Given the description of an element on the screen output the (x, y) to click on. 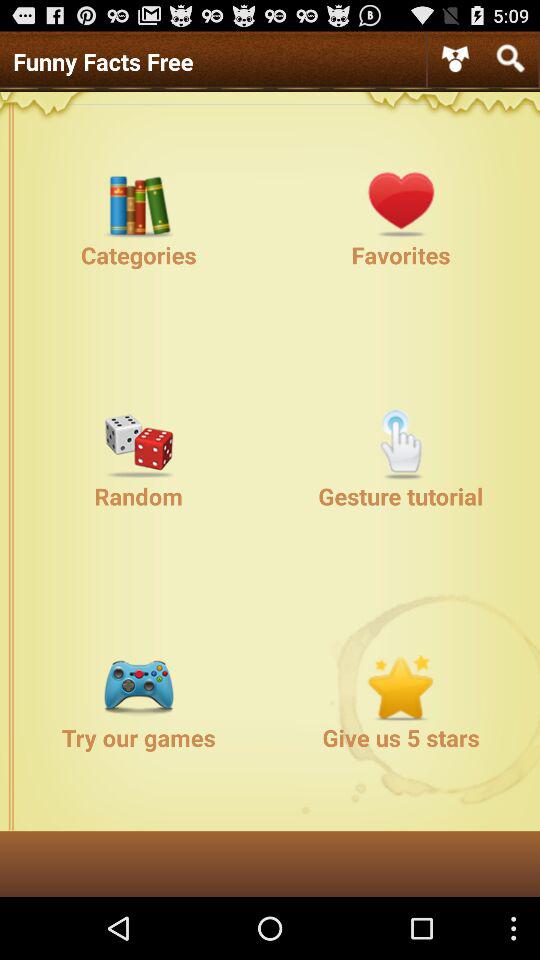
searching the process (510, 58)
